Given the description of an element on the screen output the (x, y) to click on. 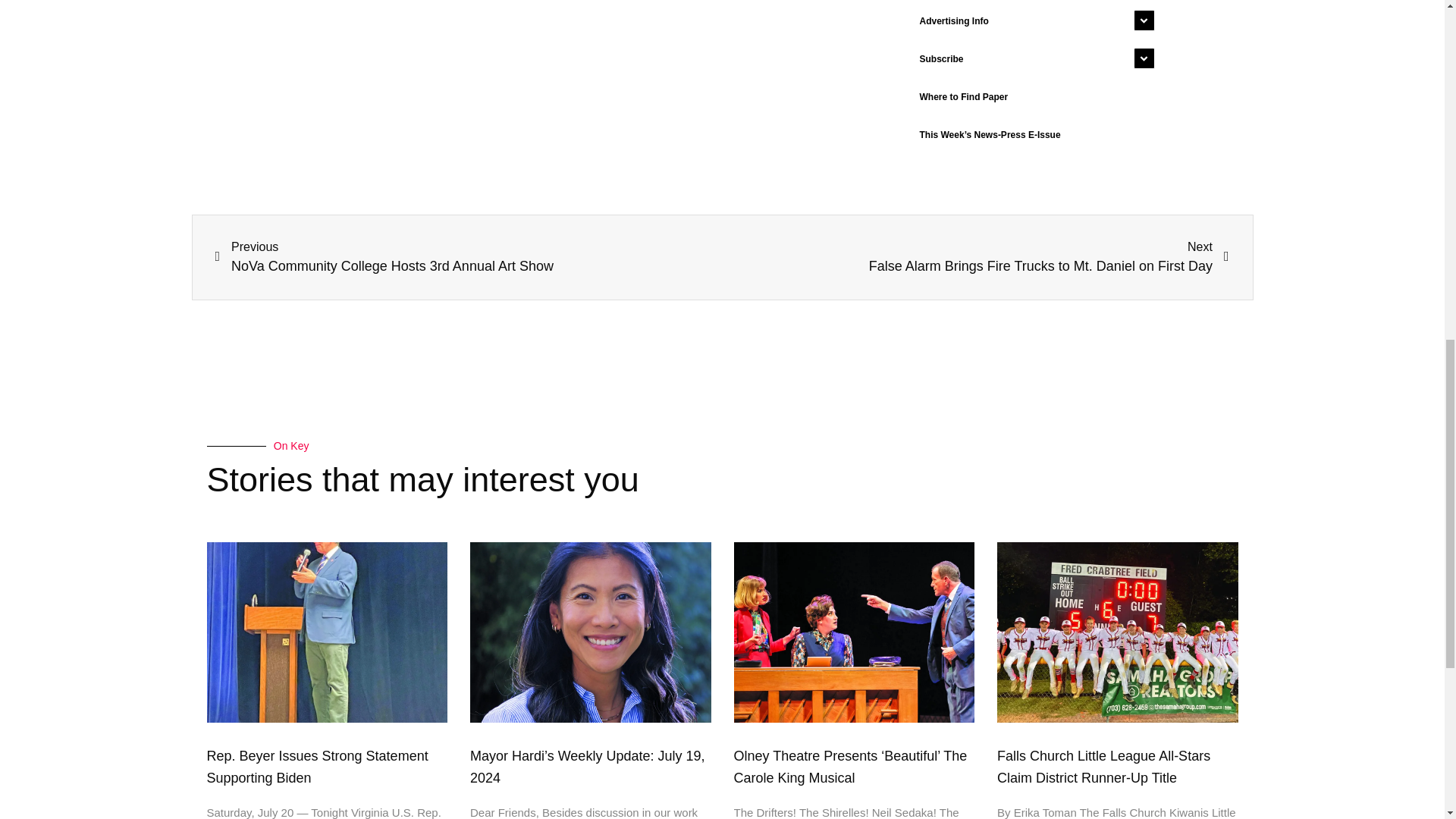
Advertising Info (1032, 21)
Subscribe (1032, 58)
